Given the description of an element on the screen output the (x, y) to click on. 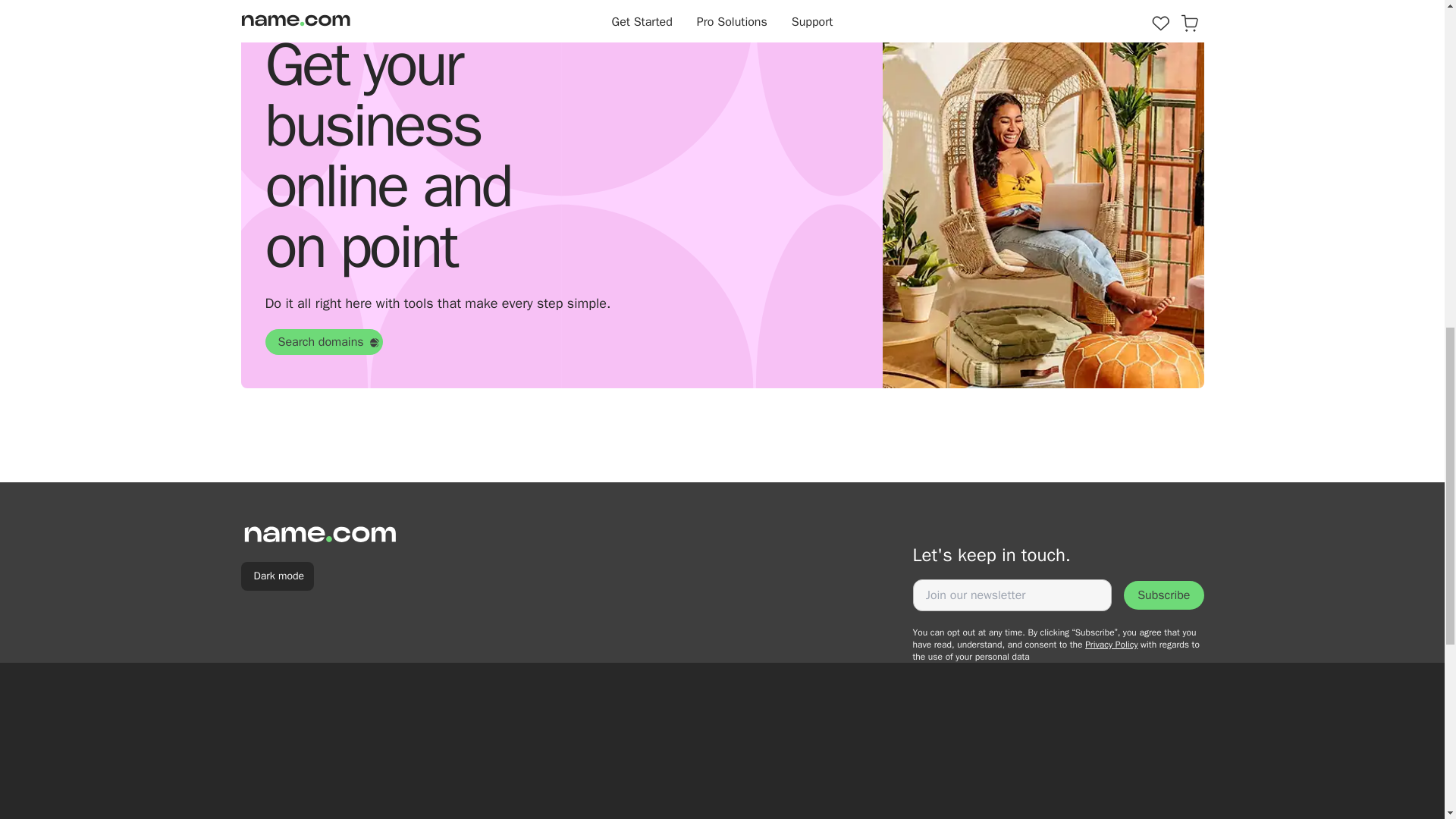
Subscribe (1164, 594)
Search domains (324, 341)
Privacy Policy (1110, 644)
